Given the description of an element on the screen output the (x, y) to click on. 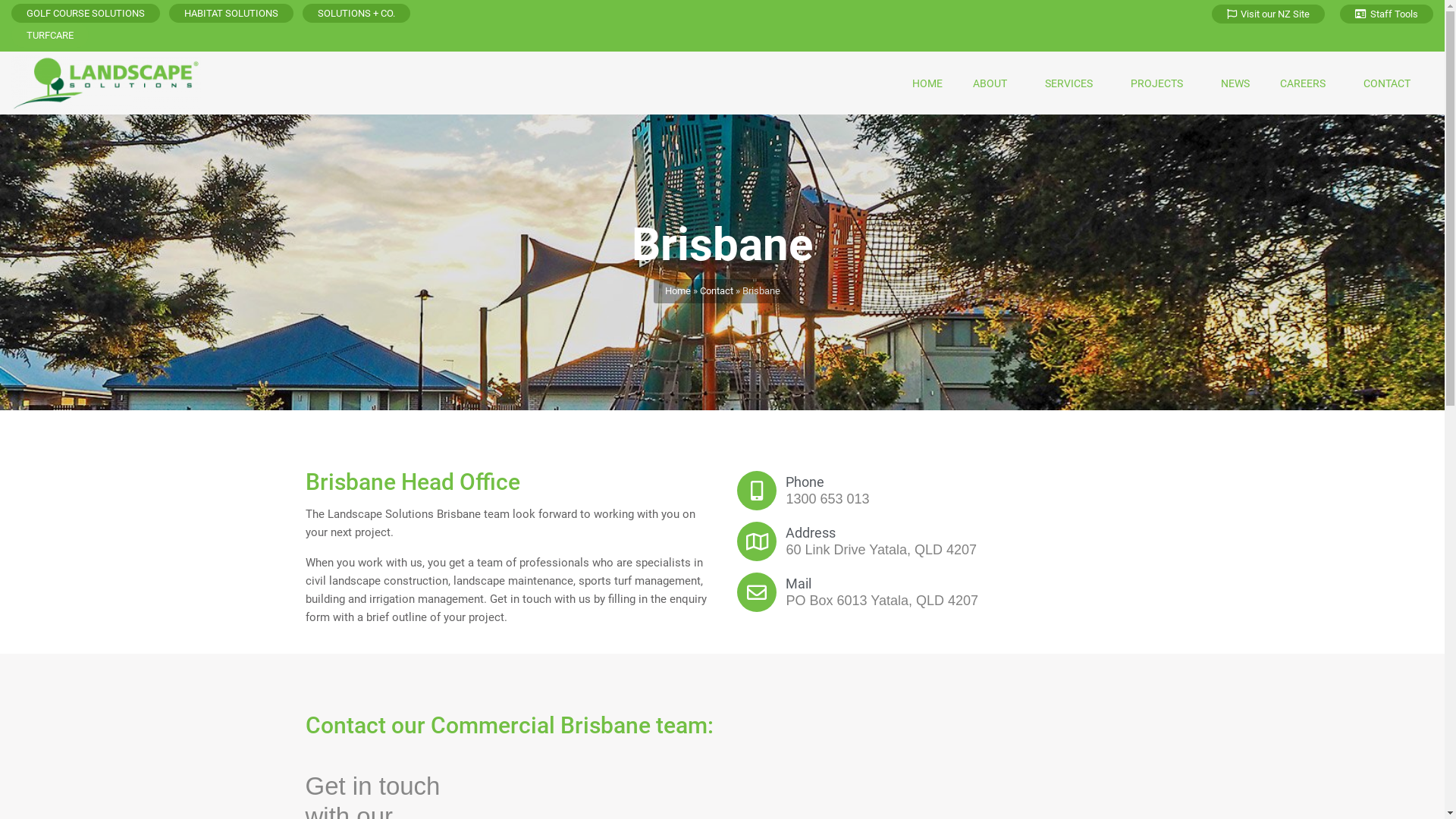
Home Element type: text (677, 290)
NEWS Element type: text (1234, 82)
Staff Tools Element type: text (1386, 13)
Phone Element type: text (804, 481)
Contact Element type: text (715, 290)
SERVICES Element type: text (1072, 82)
GOLF COURSE SOLUTIONS Element type: text (85, 12)
HOME Element type: text (927, 82)
CONTACT Element type: text (1390, 82)
HABITAT SOLUTIONS Element type: text (231, 12)
PROJECTS Element type: text (1160, 82)
TURFCARE Element type: text (49, 34)
SOLUTIONS + CO. Element type: text (356, 12)
Visit our NZ Site Element type: text (1267, 13)
ABOUT Element type: text (993, 82)
CAREERS Element type: text (1306, 82)
